Given the description of an element on the screen output the (x, y) to click on. 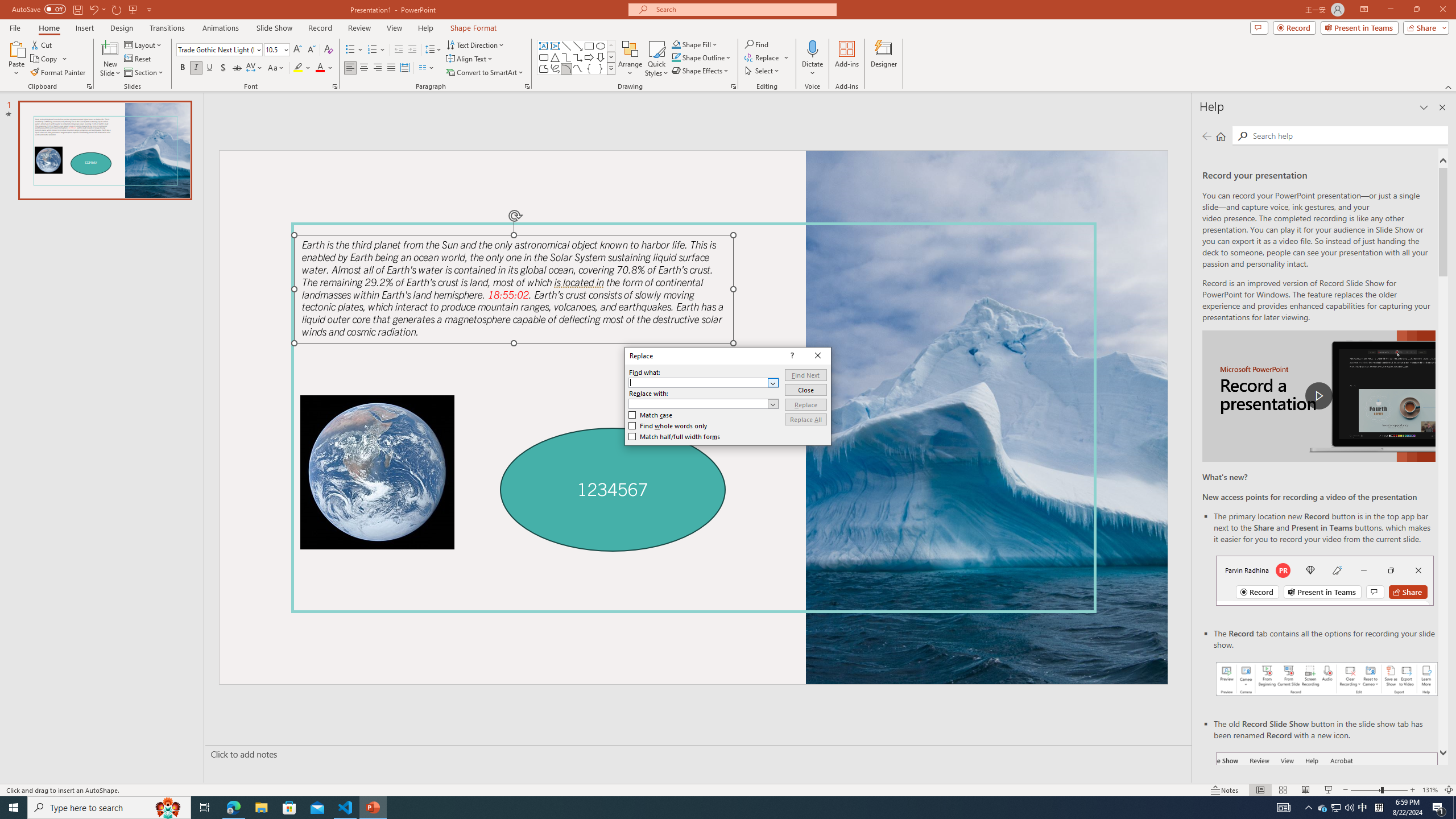
Align Left (349, 67)
play Record a Presentation (1318, 395)
Isosceles Triangle (554, 57)
Columns (426, 67)
Microsoft Edge - 1 running window (233, 807)
Shape Outline (701, 56)
Context help (791, 355)
Record your presentations screenshot one (1326, 678)
